Given the description of an element on the screen output the (x, y) to click on. 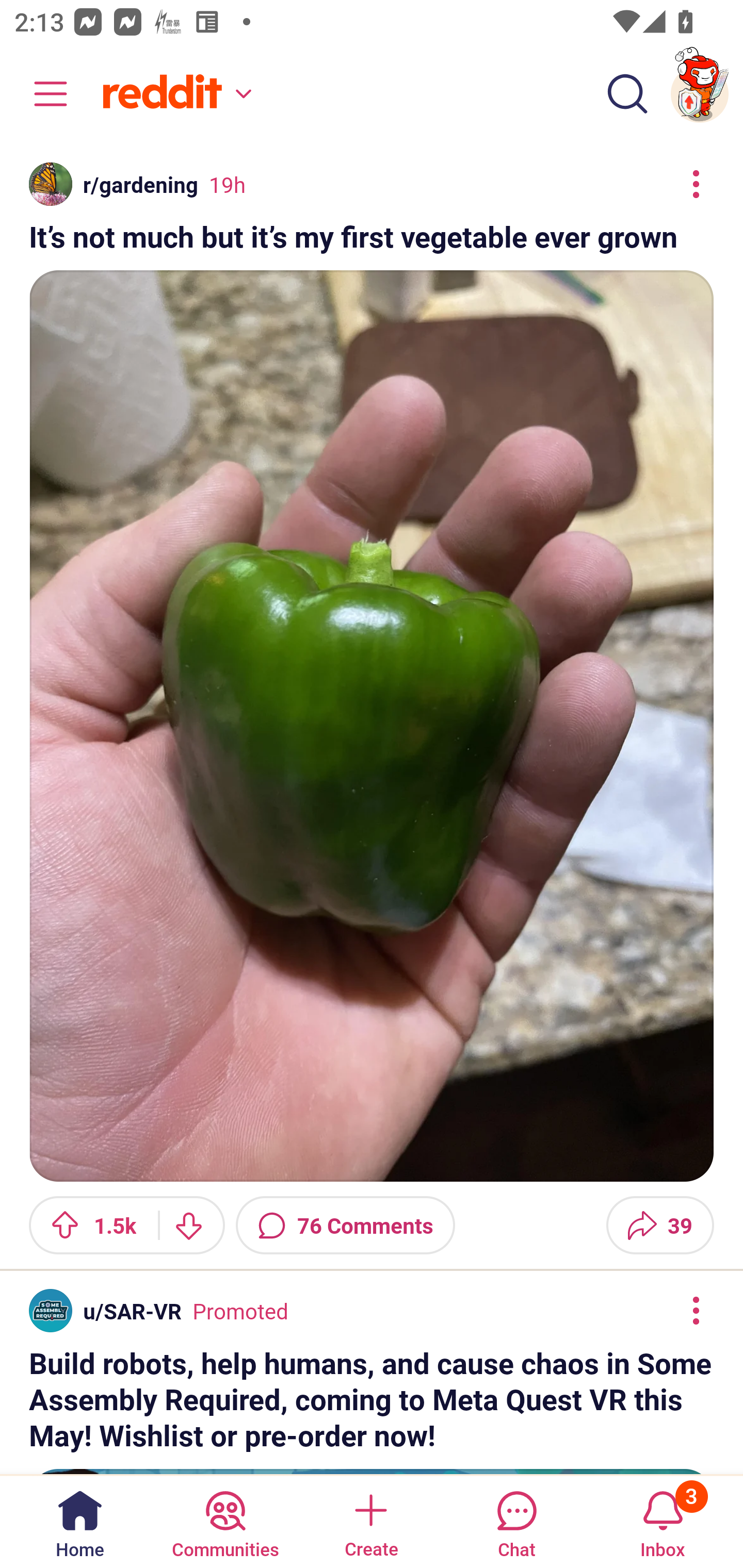
Search (626, 93)
TestAppium002 account (699, 93)
Community menu (41, 94)
Home feed (173, 94)
Home (80, 1520)
Communities (225, 1520)
Create a post Create (370, 1520)
Chat (516, 1520)
Inbox, has 3 notifications 3 Inbox (662, 1520)
